Given the description of an element on the screen output the (x, y) to click on. 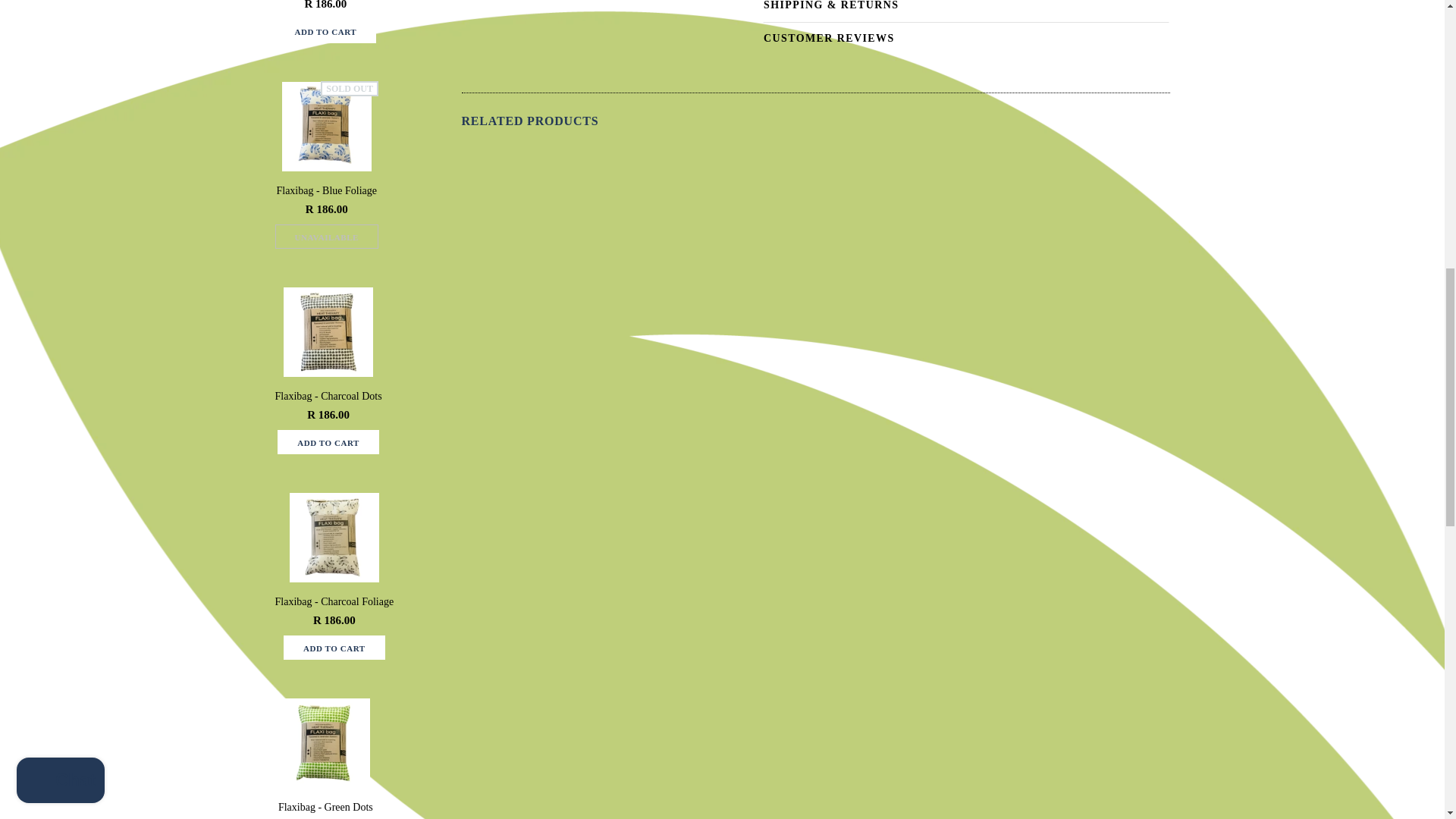
Add to Cart (334, 647)
Add to Cart (325, 30)
Add to Cart (328, 441)
Unavailable (326, 236)
